Given the description of an element on the screen output the (x, y) to click on. 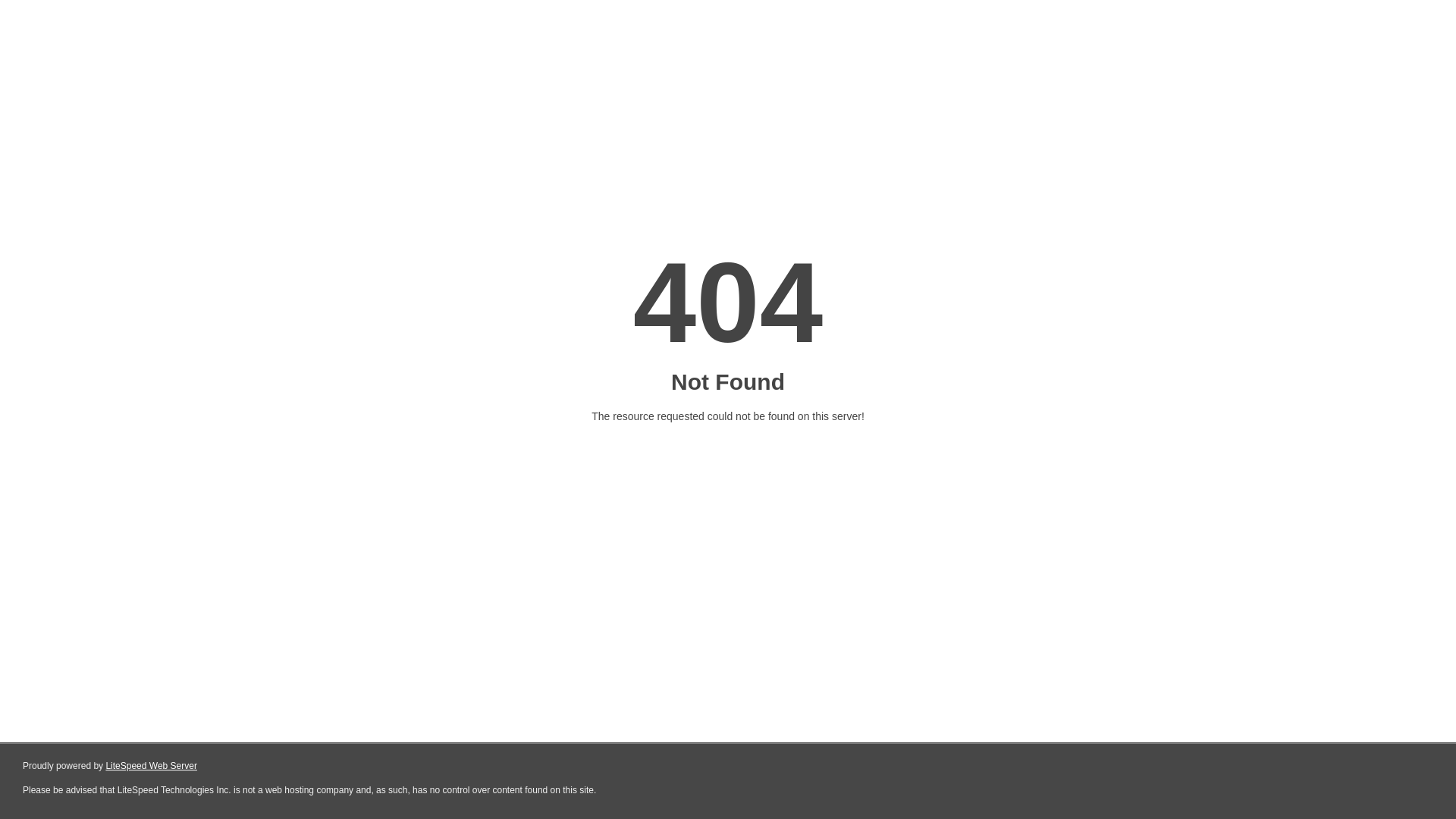
LiteSpeed Web Server Element type: text (151, 765)
